Given the description of an element on the screen output the (x, y) to click on. 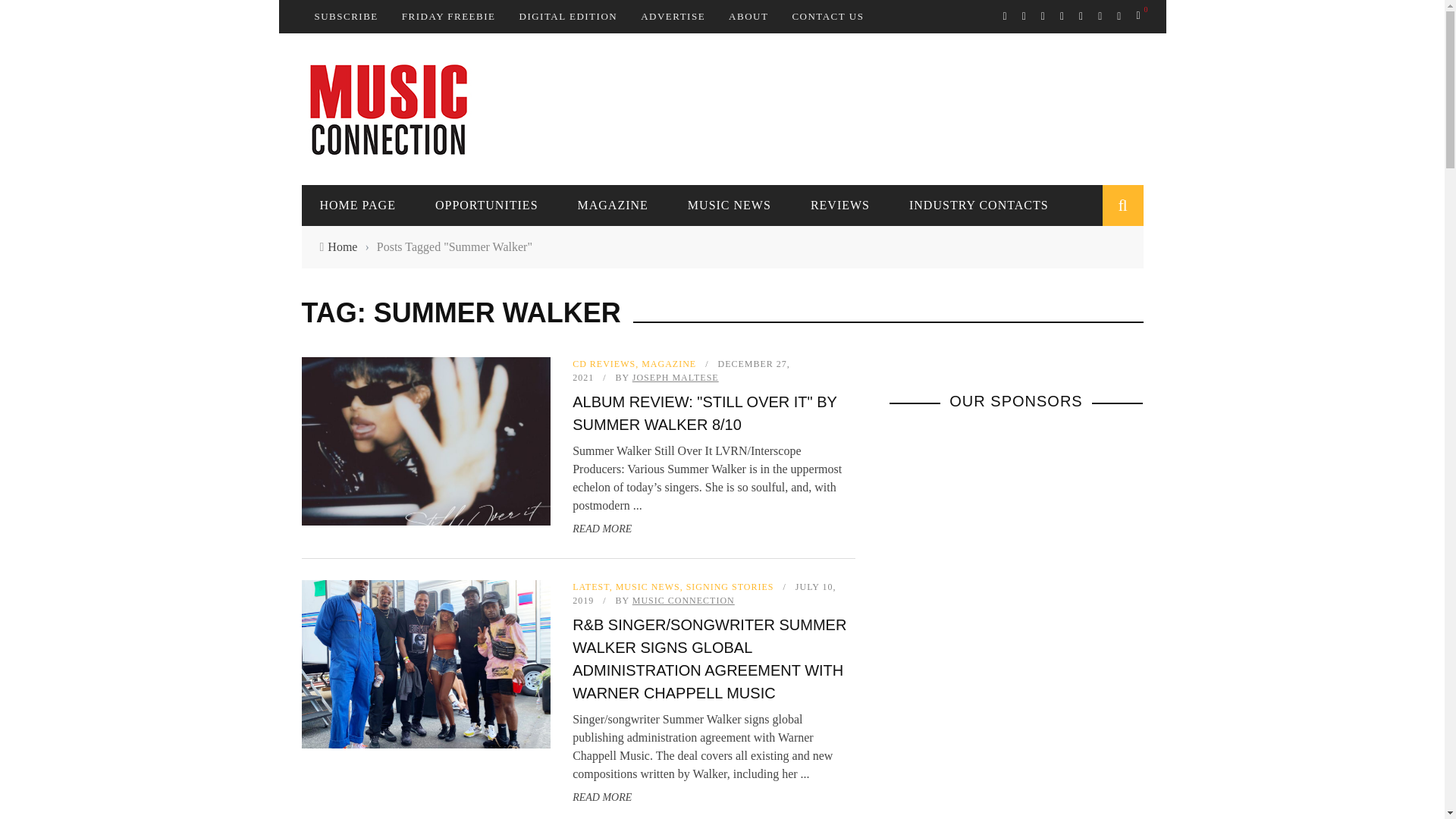
View your shopping cart (1138, 15)
3rd party ad content (1002, 624)
3rd party ad content (866, 108)
